Given the description of an element on the screen output the (x, y) to click on. 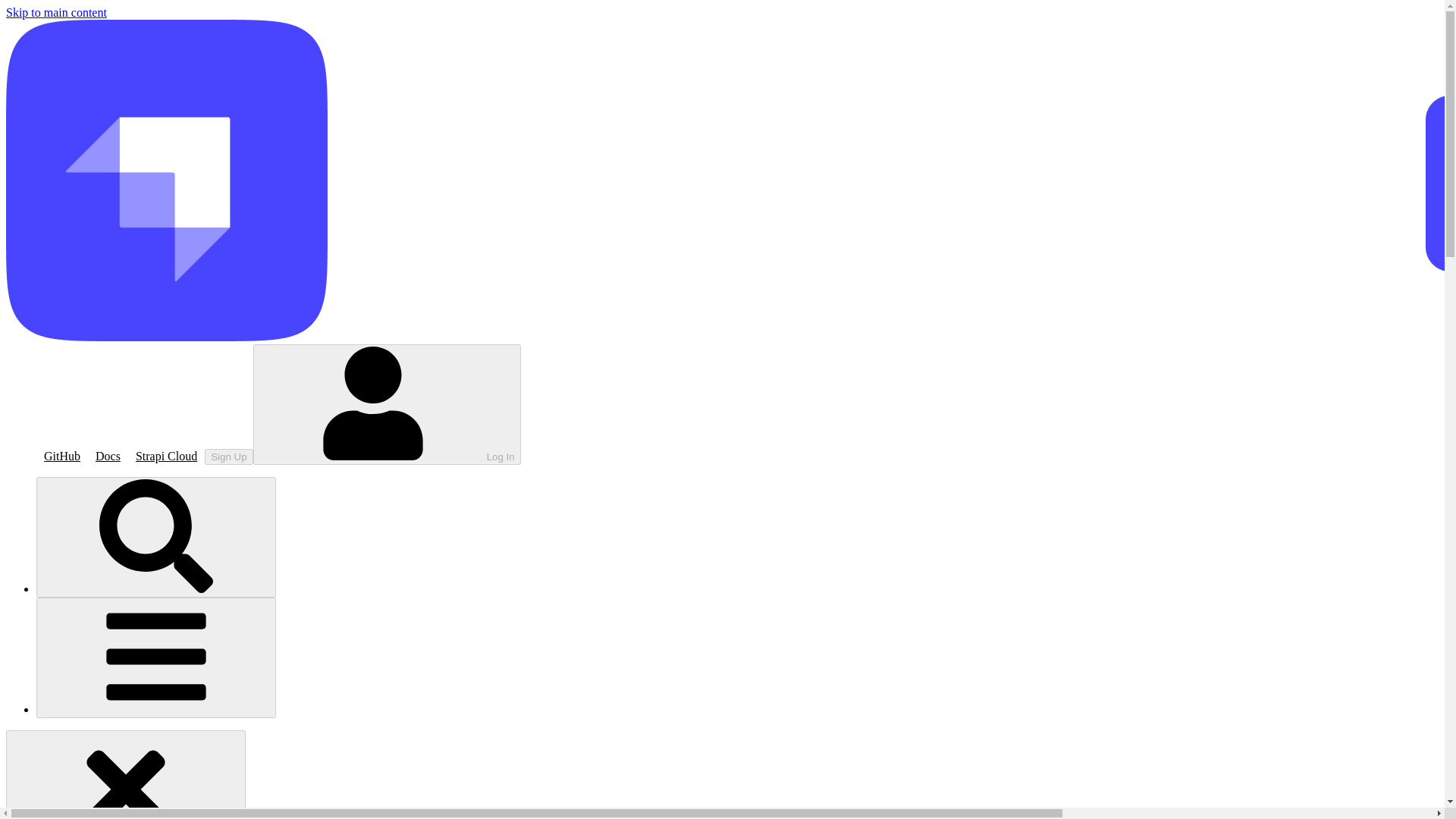
menu (156, 657)
Sign Up (228, 456)
Strapi Cloud (166, 455)
Search (156, 536)
Dismiss this banner (125, 774)
Docs (107, 455)
Strapi Documentation (107, 455)
GitHub (61, 455)
Strapi GitHub (61, 455)
Log In (387, 404)
Skip to main content (55, 11)
Join the Cloud Waitlist (166, 455)
